Given the description of an element on the screen output the (x, y) to click on. 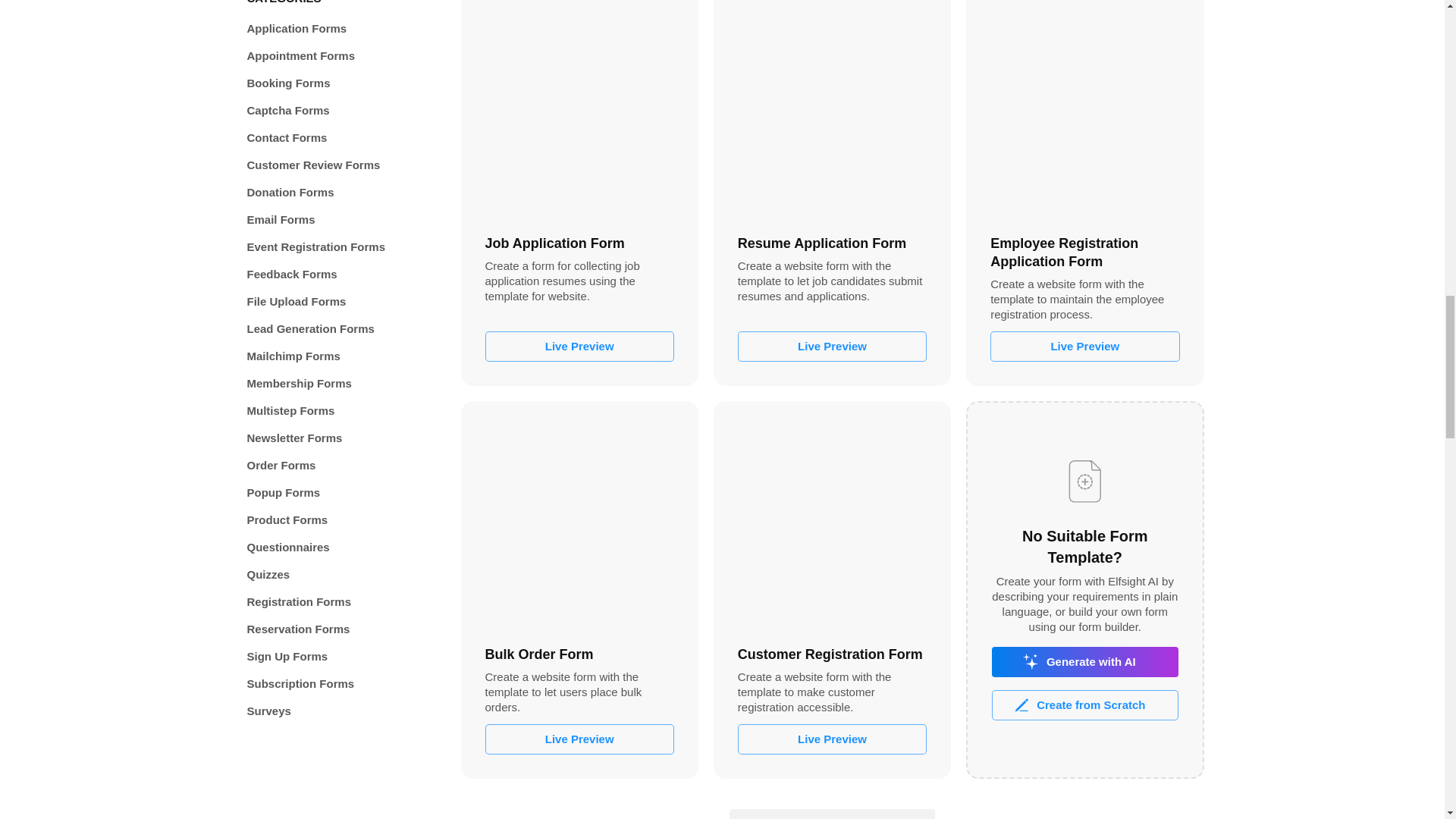
Customer Registration Form (832, 519)
Resume Application Form (832, 109)
Job Application Form (579, 109)
Bulk Order Form (579, 519)
Employee Registration Application Form (1084, 109)
